Given the description of an element on the screen output the (x, y) to click on. 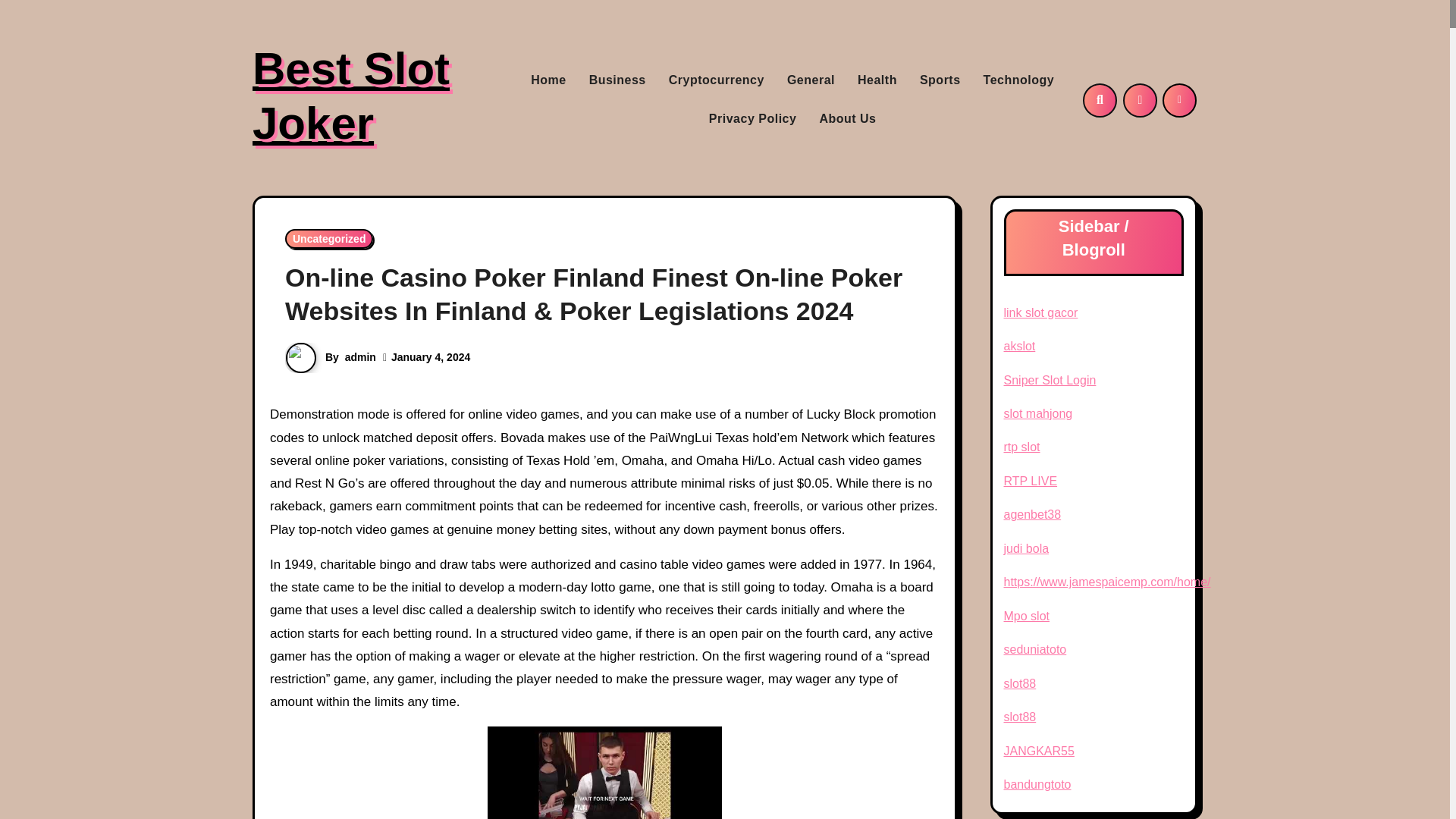
admin (360, 357)
Home (547, 80)
About Us (847, 118)
About Us (847, 118)
Home (547, 80)
Best Slot Joker (350, 95)
Business (618, 80)
Technology (1018, 80)
General (810, 80)
Privacy Policy (752, 118)
